Given the description of an element on the screen output the (x, y) to click on. 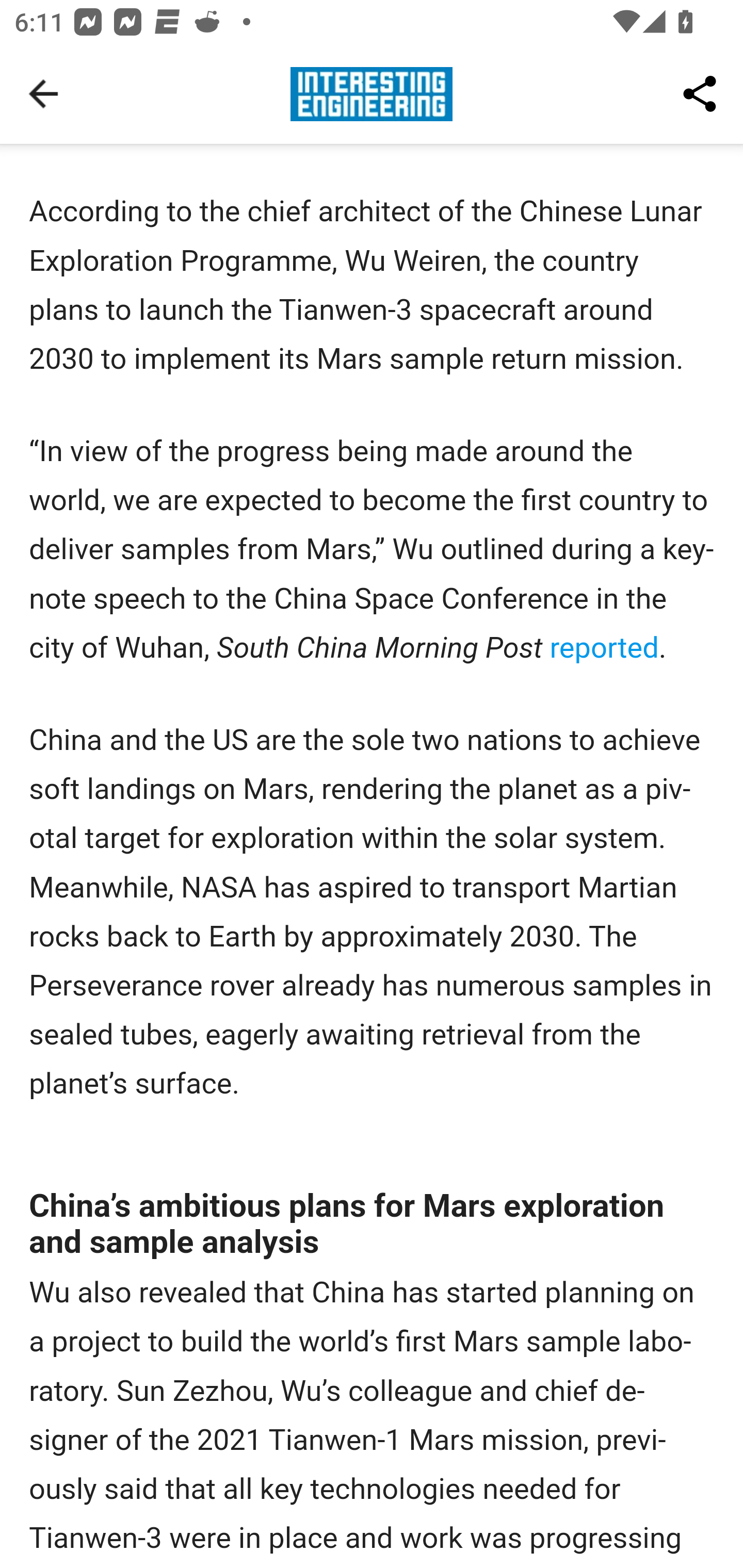
reported (604, 647)
